Given the description of an element on the screen output the (x, y) to click on. 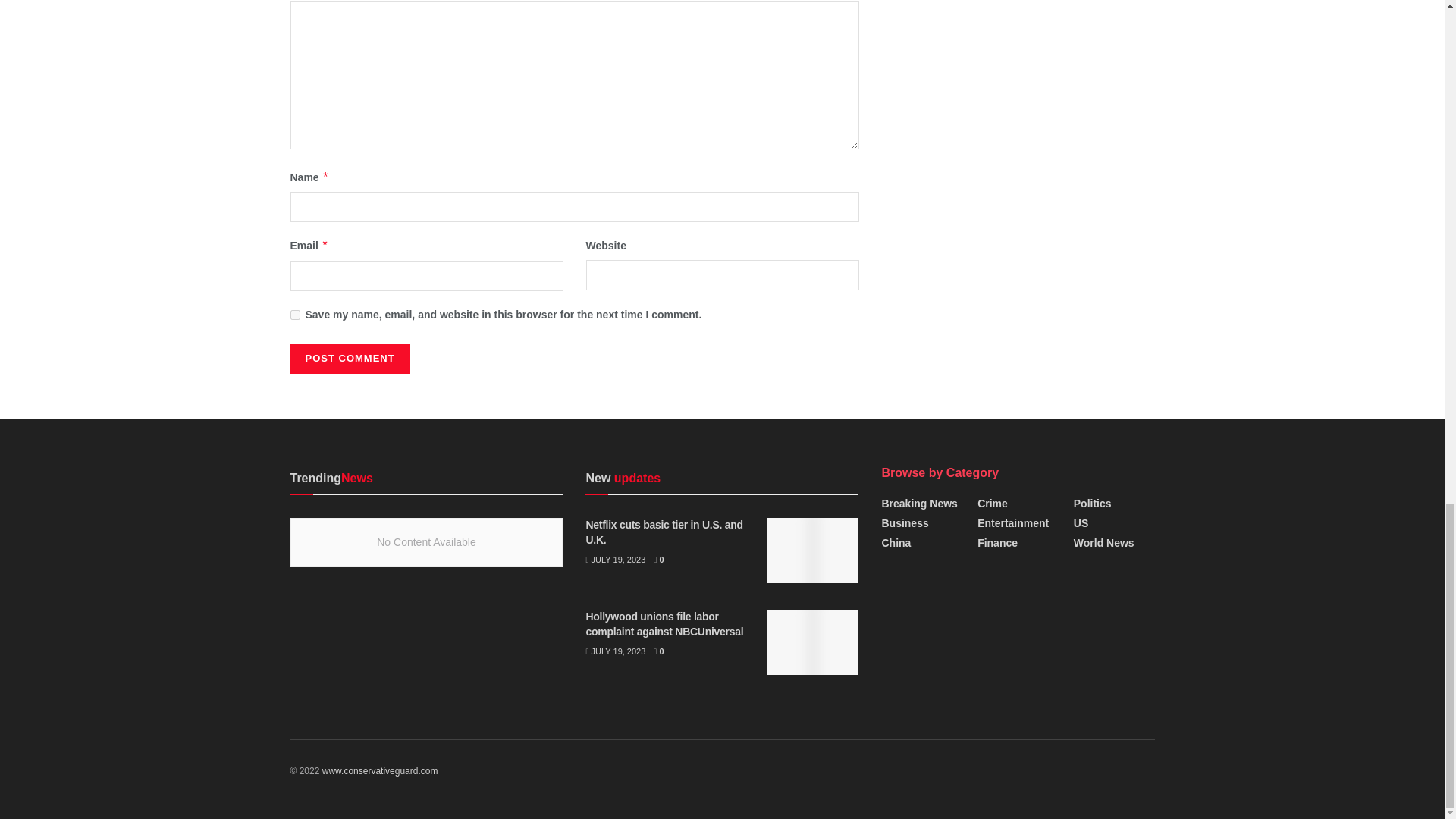
yes (294, 315)
Post Comment (349, 358)
www.conservativeguard.com (379, 770)
